Given the description of an element on the screen output the (x, y) to click on. 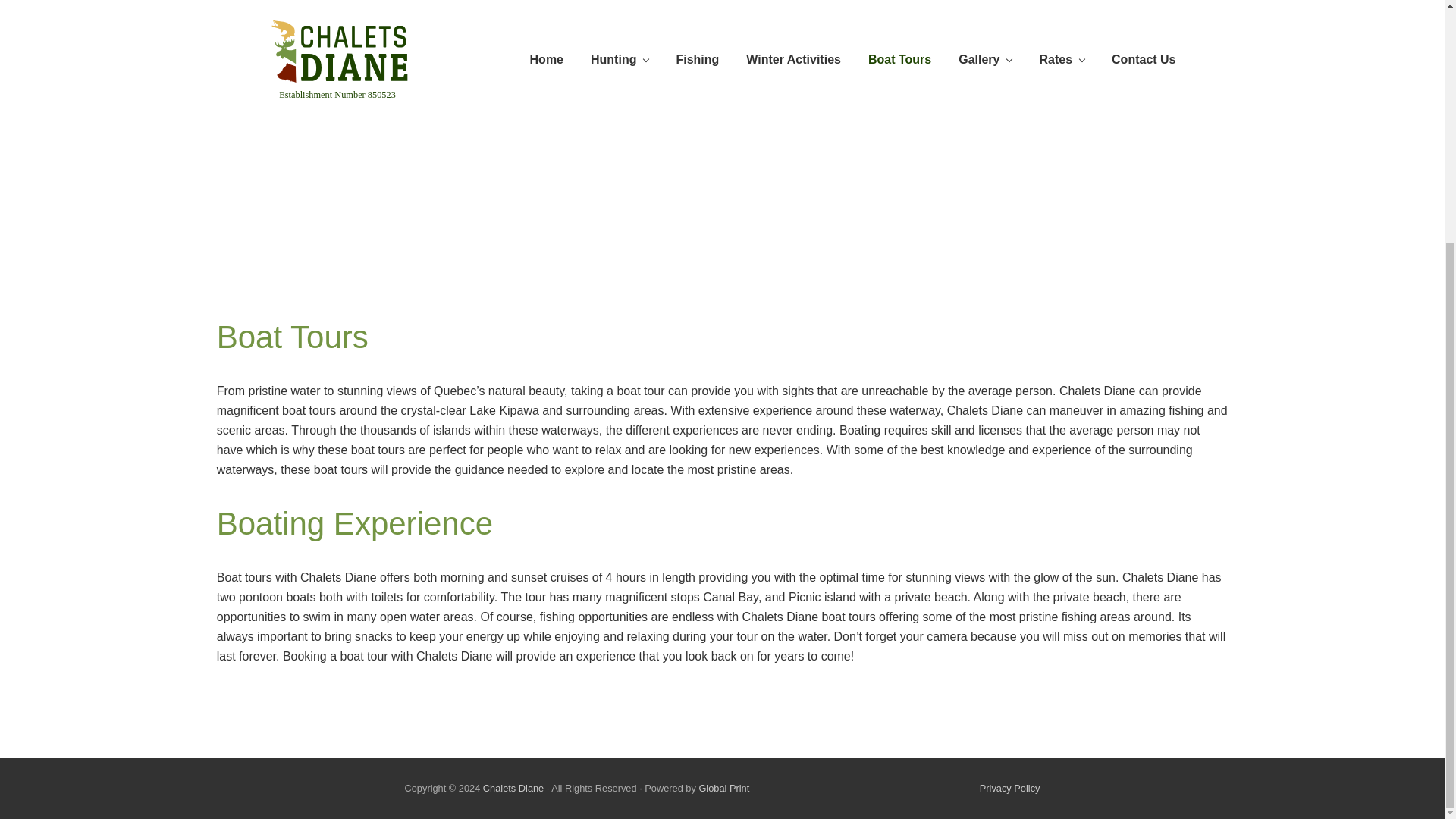
Privacy Policy (1010, 787)
Chalets Diane (513, 787)
Chalets Diane (513, 787)
Global Print (723, 787)
